Given the description of an element on the screen output the (x, y) to click on. 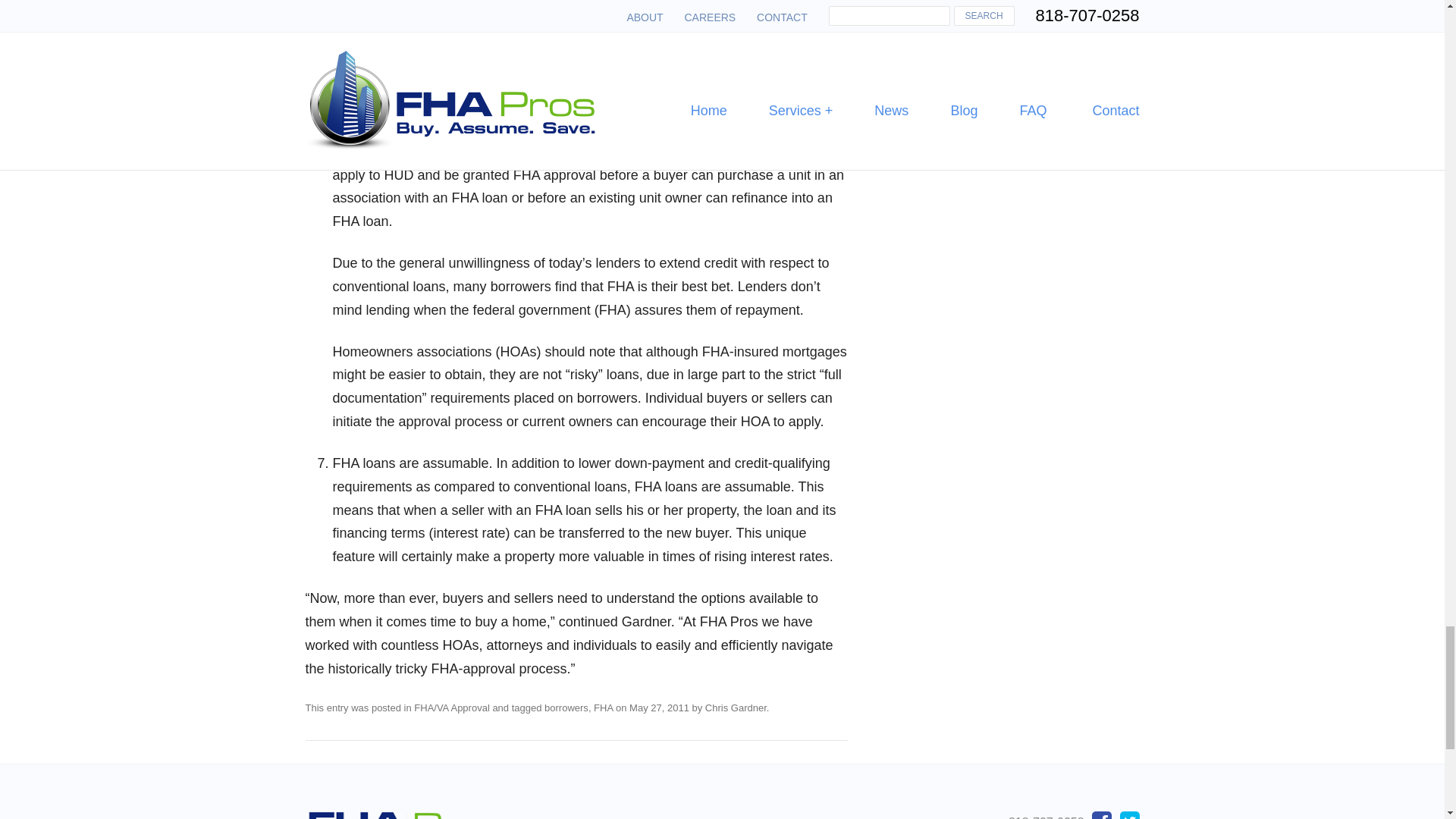
View all posts by Chris Gardner (735, 707)
7:51 pm (658, 707)
